Given the description of an element on the screen output the (x, y) to click on. 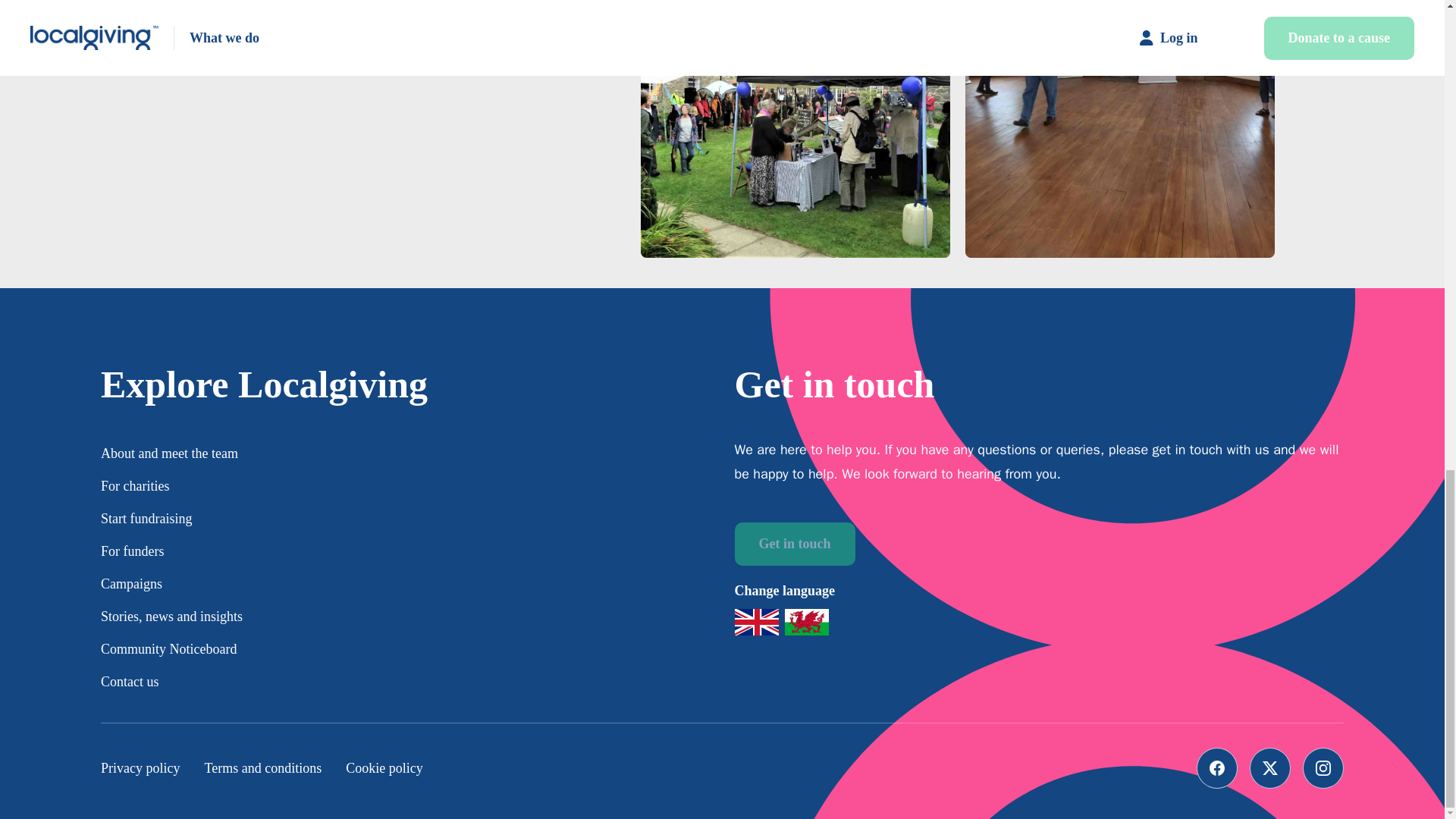
Welsh (806, 622)
English (755, 622)
Privacy policy (139, 767)
Community Noticeboard (167, 648)
Terms and conditions (262, 767)
For charities (134, 485)
Start fundraising (146, 518)
Cookie policy (384, 767)
For funders (132, 550)
Contact us (129, 681)
